Given the description of an element on the screen output the (x, y) to click on. 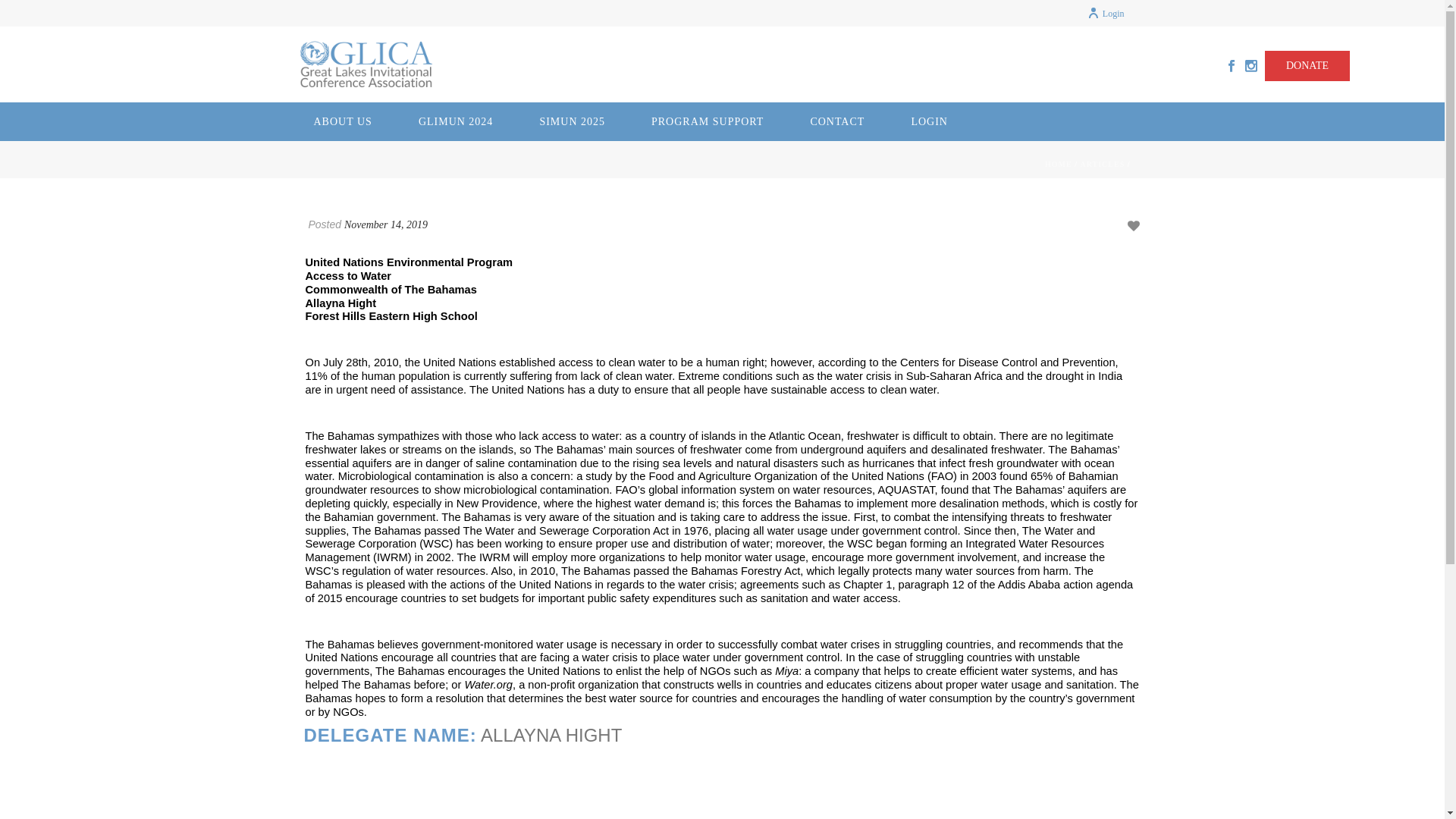
SIMUN 2025 (571, 121)
GLICA.org (365, 64)
Login (1105, 13)
GLIMUN 2024 (456, 121)
CONTACT (836, 121)
LOGIN (929, 121)
ABOUT US (342, 121)
SIMUN 2025 (571, 121)
PROGRAM SUPPORT (707, 121)
CONTACT (836, 121)
PROGRAM SUPPORT (707, 121)
LOGIN (929, 121)
DONATE (1307, 65)
GLIMUN 2024 (456, 121)
DONATE (1307, 65)
